Given the description of an element on the screen output the (x, y) to click on. 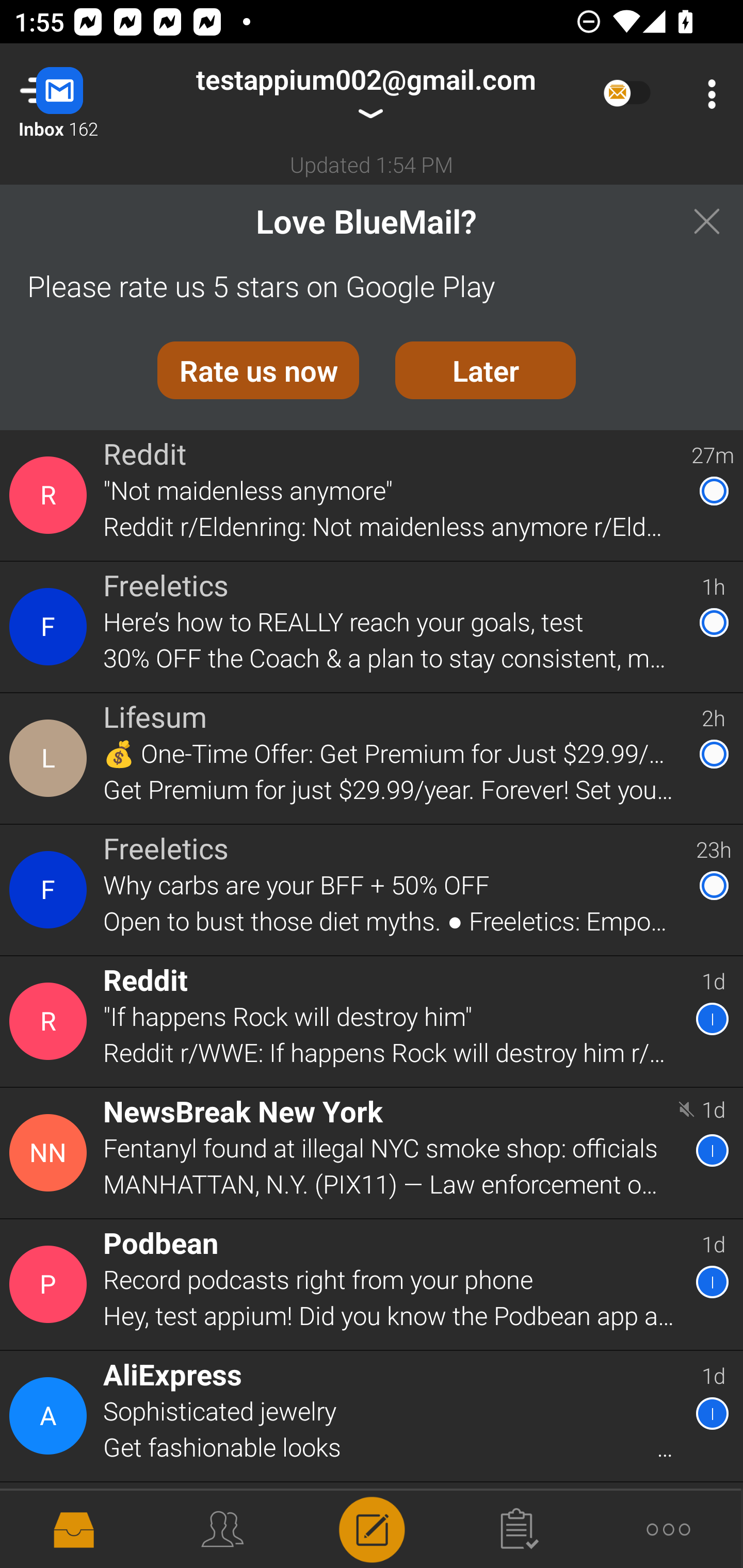
Navigate up (81, 93)
testappium002@gmail.com (365, 93)
More Options (706, 93)
Updated 1:54 PM (371, 164)
Rate us now (257, 370)
Later (485, 370)
Contact Details (50, 495)
Contact Details (50, 626)
Contact Details (50, 758)
Contact Details (50, 889)
Contact Details (50, 1021)
Contact Details (50, 1153)
Contact Details (50, 1284)
Contact Details (50, 1416)
Compose (371, 1528)
